Given the description of an element on the screen output the (x, y) to click on. 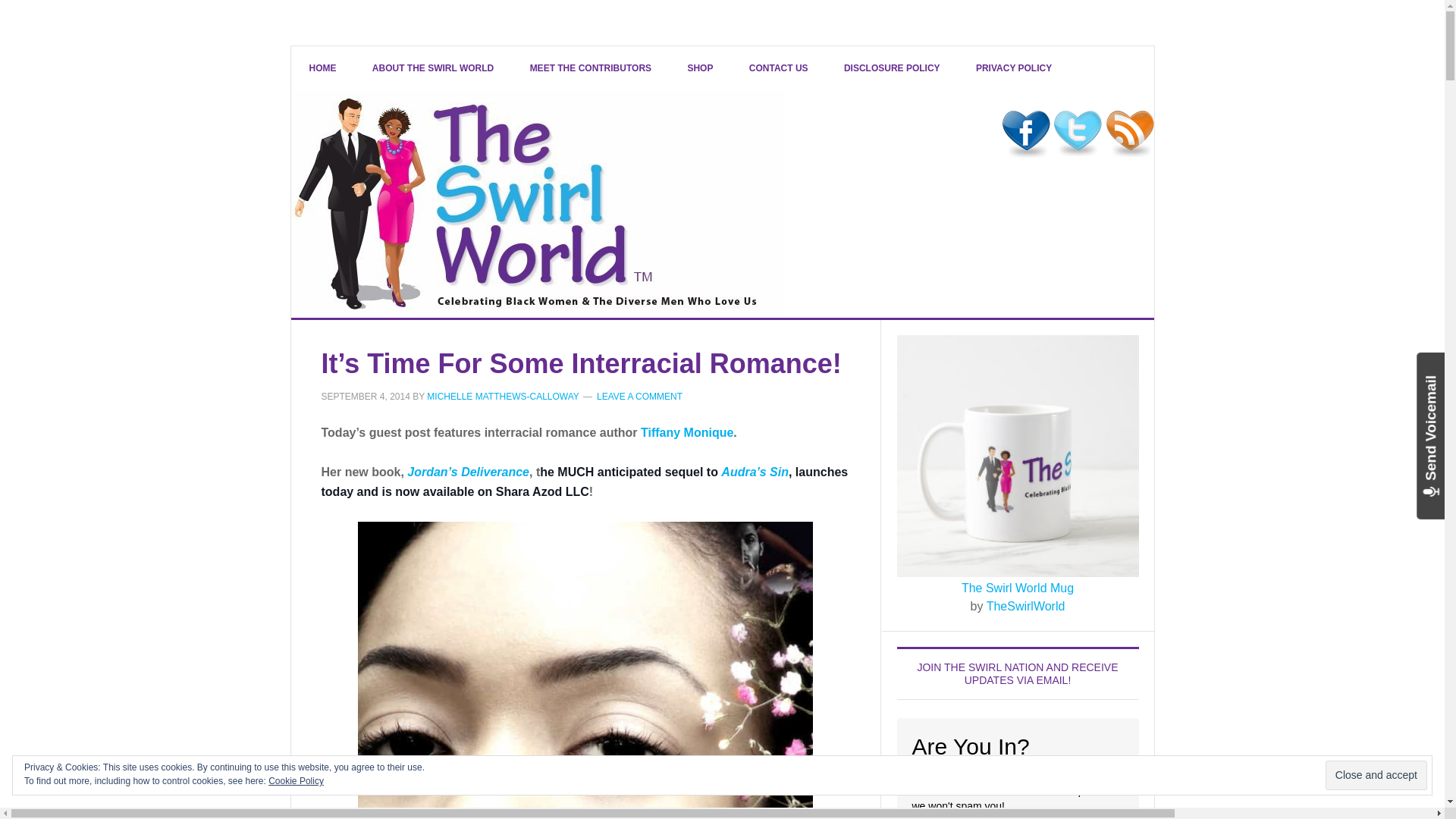
Close and accept (1375, 775)
Tiffany Monique (686, 431)
MICHELLE MATTHEWS-CALLOWAY (502, 396)
PRIVACY POLICY (1014, 67)
CONTACT US (778, 67)
ABOUT THE SWIRL WORLD (432, 67)
DISCLOSURE POLICY (891, 67)
MEET THE CONTRIBUTORS (590, 67)
LEAVE A COMMENT (639, 396)
HOME (323, 67)
THE SWIRL WORLD (537, 203)
SHOP (699, 67)
